Given the description of an element on the screen output the (x, y) to click on. 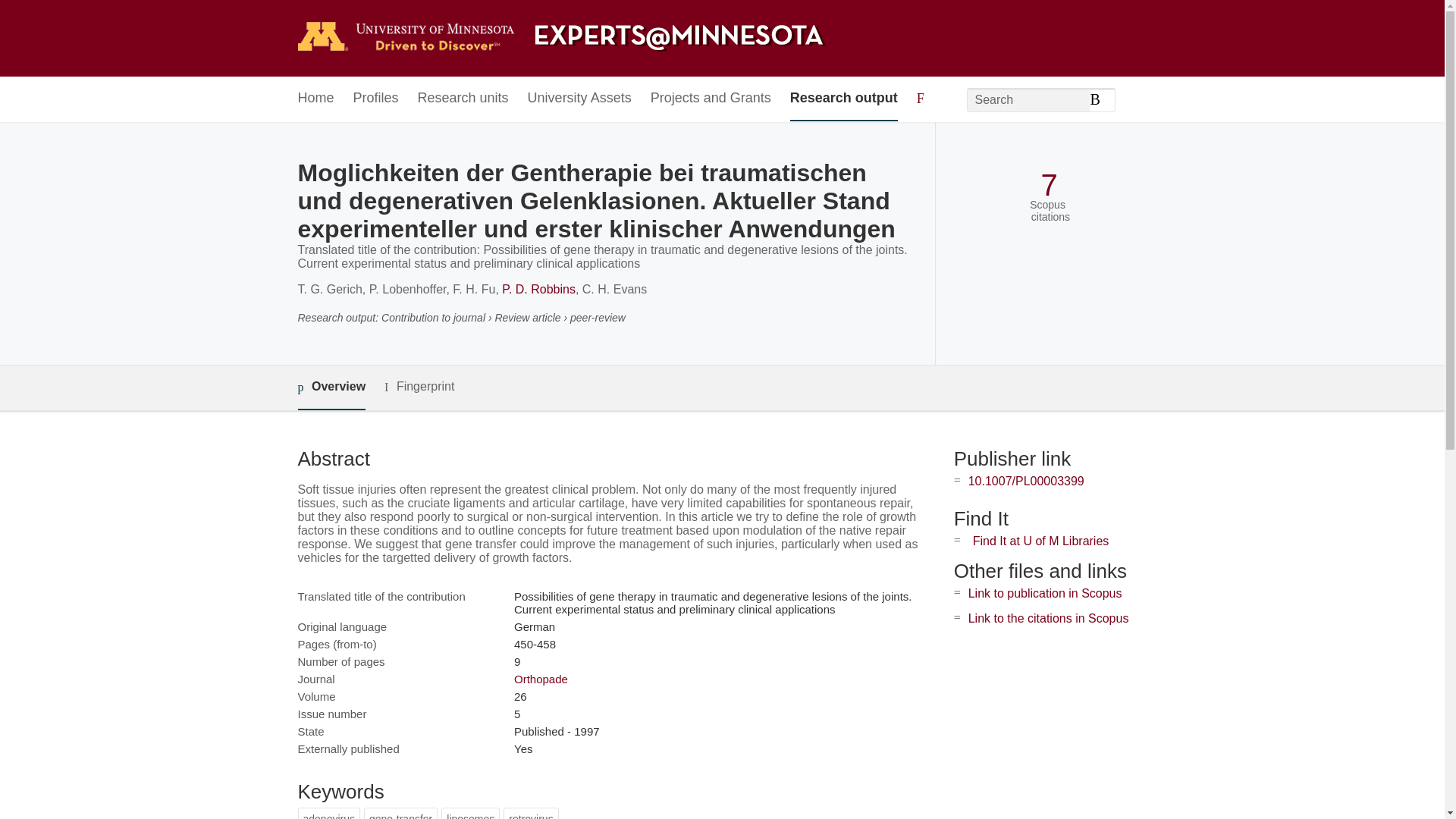
Find It at U of M Libraries (1040, 540)
University Assets (579, 98)
Fingerprint (419, 386)
7 (1049, 185)
Research output (844, 98)
Overview (331, 387)
Link to the citations in Scopus (1048, 617)
Research units (462, 98)
Projects and Grants (710, 98)
Link to publication in Scopus (1045, 593)
Home (315, 98)
P. D. Robbins (538, 288)
Orthopade (540, 678)
Profiles (375, 98)
